Given the description of an element on the screen output the (x, y) to click on. 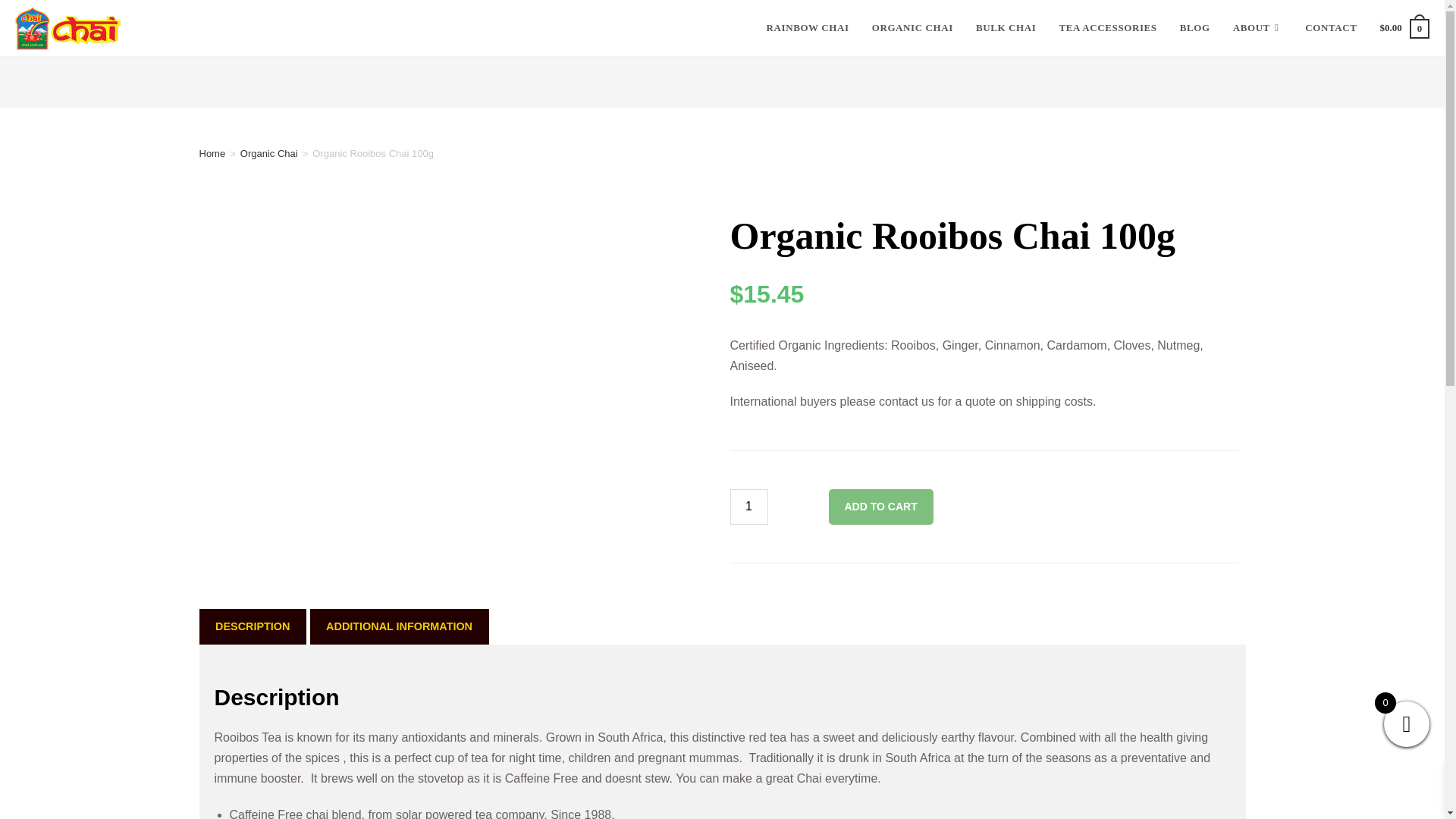
1 (748, 506)
ADDITIONAL INFORMATION (397, 626)
122 (1104, 24)
BLOG (1195, 28)
BULK CHAI (1004, 28)
DESCRIPTION (251, 626)
CONTACT (1331, 28)
ORGANIC CHAI (911, 28)
Home (211, 153)
ADD TO CART (880, 506)
